Given the description of an element on the screen output the (x, y) to click on. 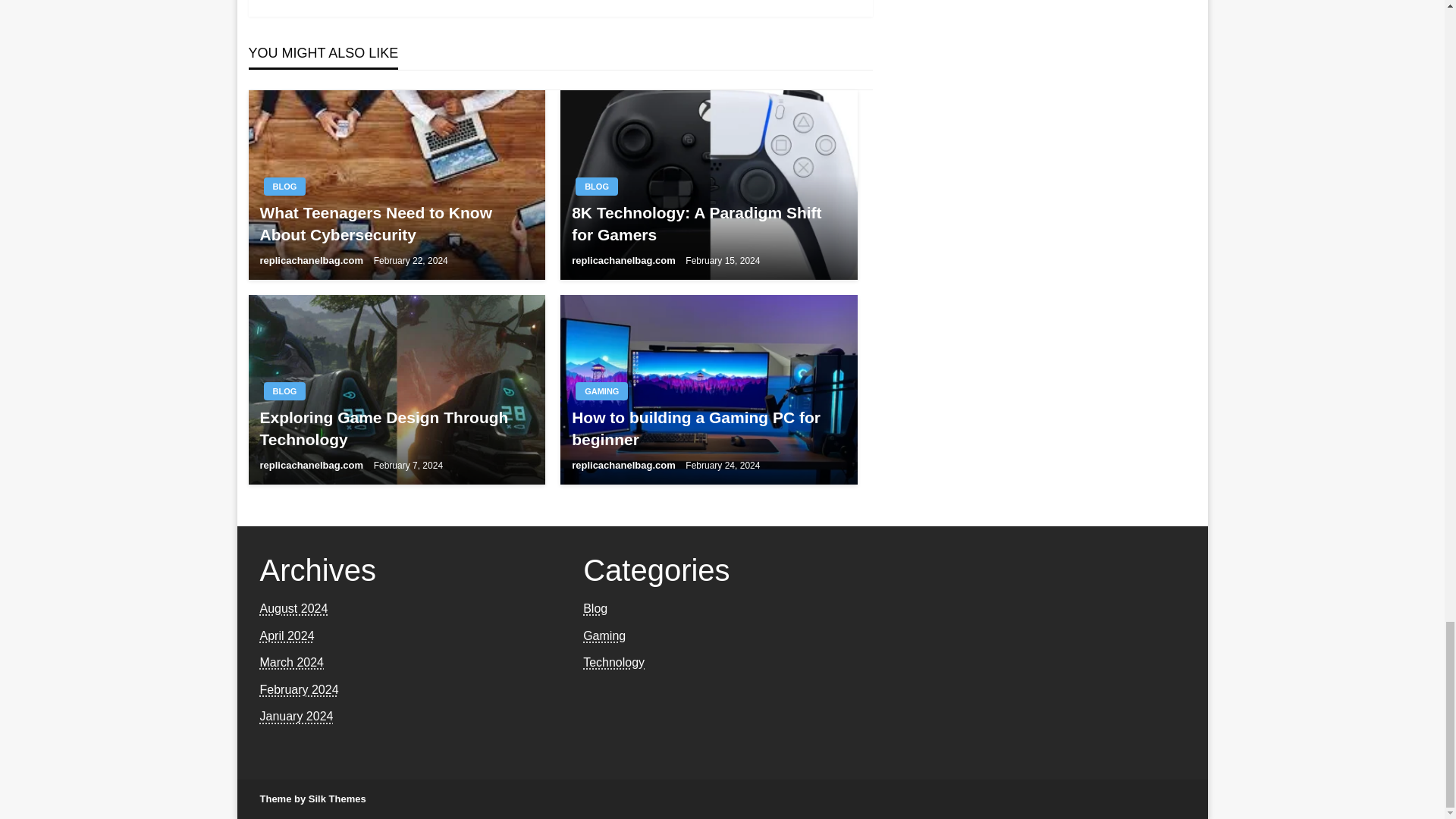
Exploring Game Design Through Technology (396, 428)
How to building a Gaming PC for beginner (708, 428)
8K Technology: A Paradigm Shift for Gamers (708, 223)
GAMING (601, 391)
What Teenagers Need to Know About Cybersecurity (396, 223)
BLOG (284, 186)
replicachanelbag.com (312, 260)
replicachanelbag.com (312, 464)
replicachanelbag.com (625, 260)
BLOG (284, 391)
